Given the description of an element on the screen output the (x, y) to click on. 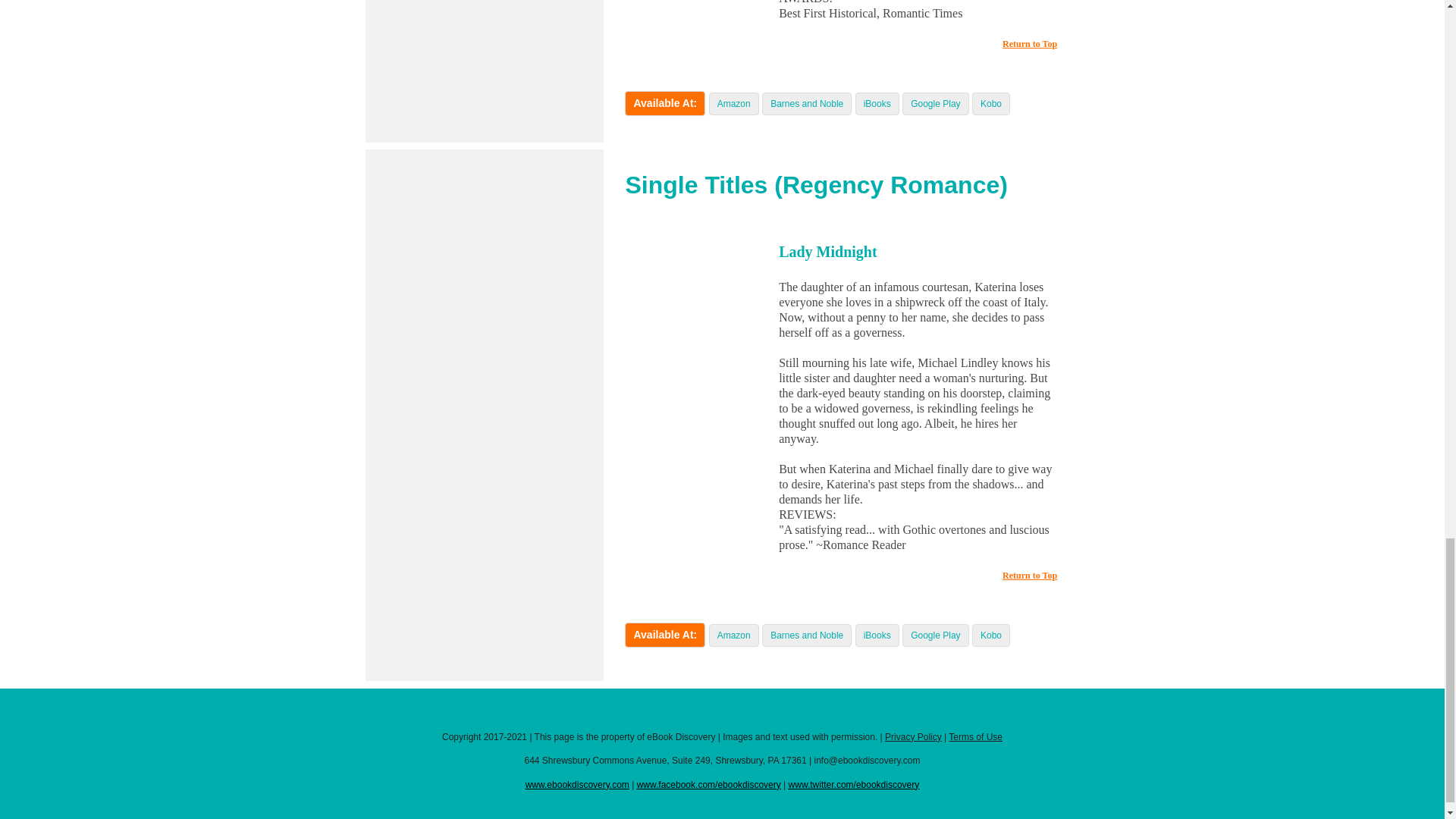
Terms of Use (976, 737)
Google Play (935, 634)
Google Play (935, 103)
Return to Top (1030, 43)
Barnes and Noble (806, 634)
Amazon (734, 103)
Return to Top (1030, 575)
Kobo (990, 103)
Amazon (734, 634)
Barnes and Noble (806, 103)
